Given the description of an element on the screen output the (x, y) to click on. 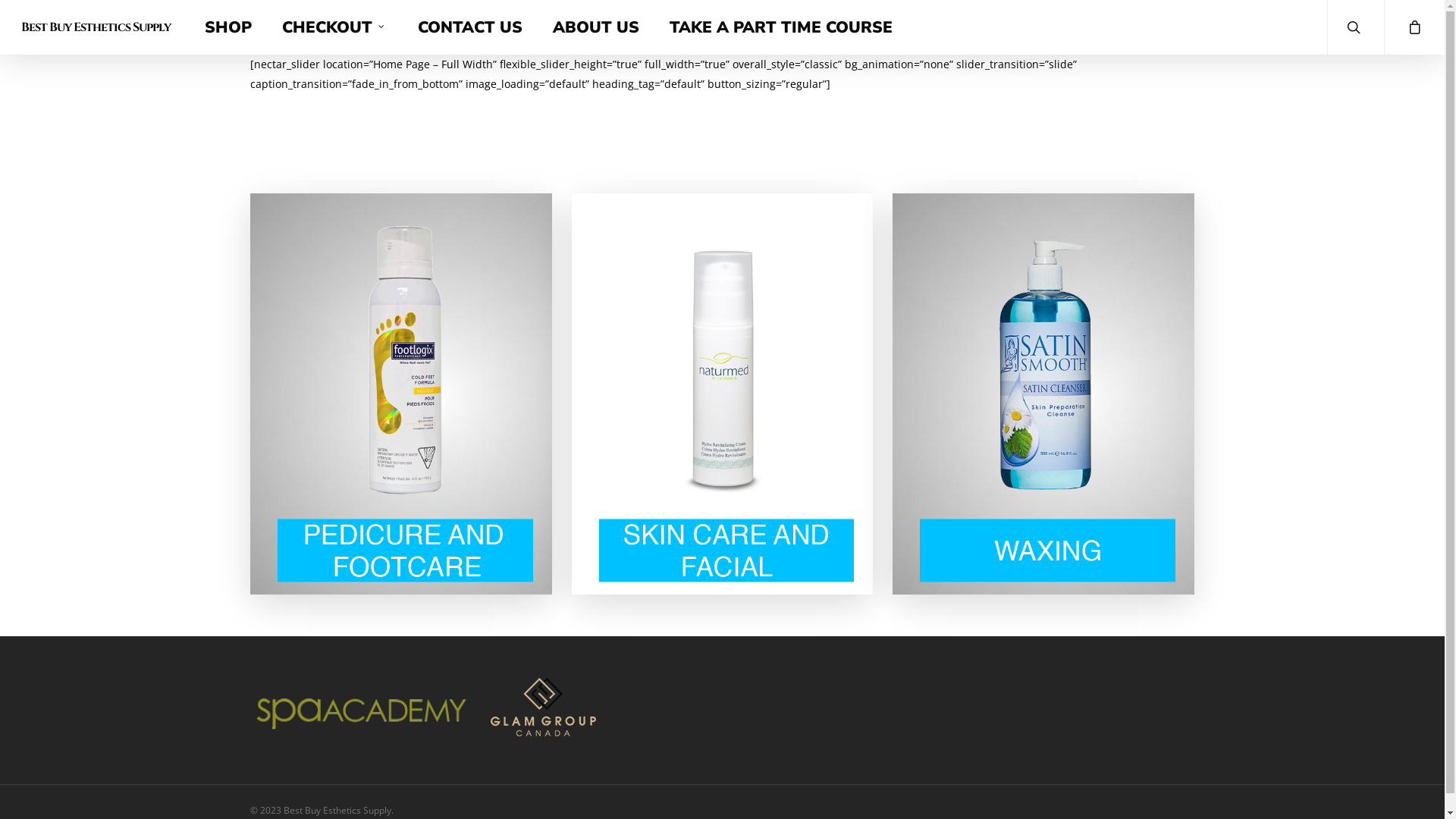
Best Buy Esthetics Supply Element type: text (95, 27)
ABOUT US Element type: text (595, 27)
CHECKOUT Element type: text (334, 27)
SHOP Element type: text (227, 27)
TAKE A PART TIME COURSE Element type: text (780, 27)
CONTACT US Element type: text (469, 27)
